Given the description of an element on the screen output the (x, y) to click on. 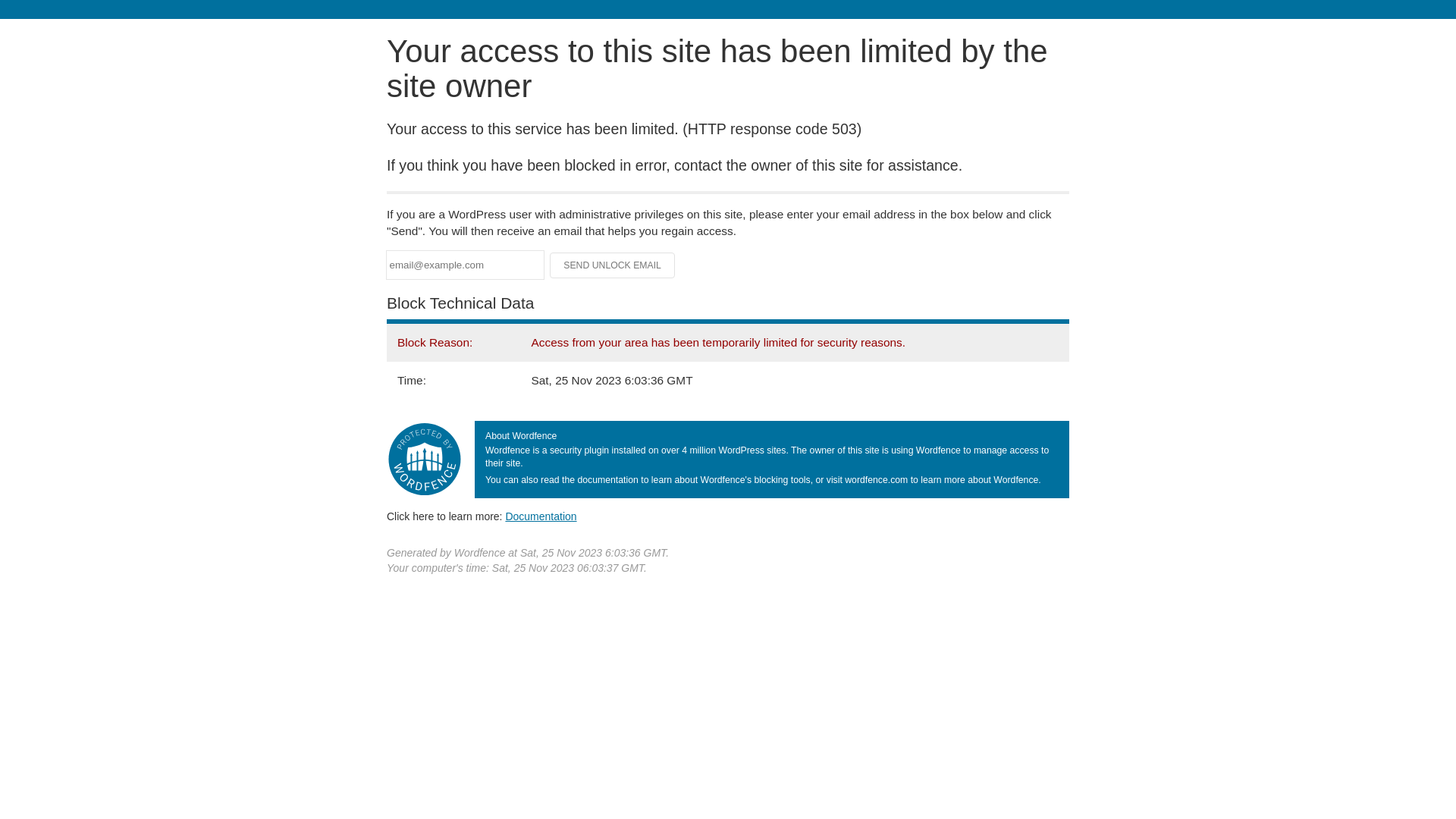
Send Unlock Email Element type: text (612, 265)
Documentation Element type: text (540, 516)
